Given the description of an element on the screen output the (x, y) to click on. 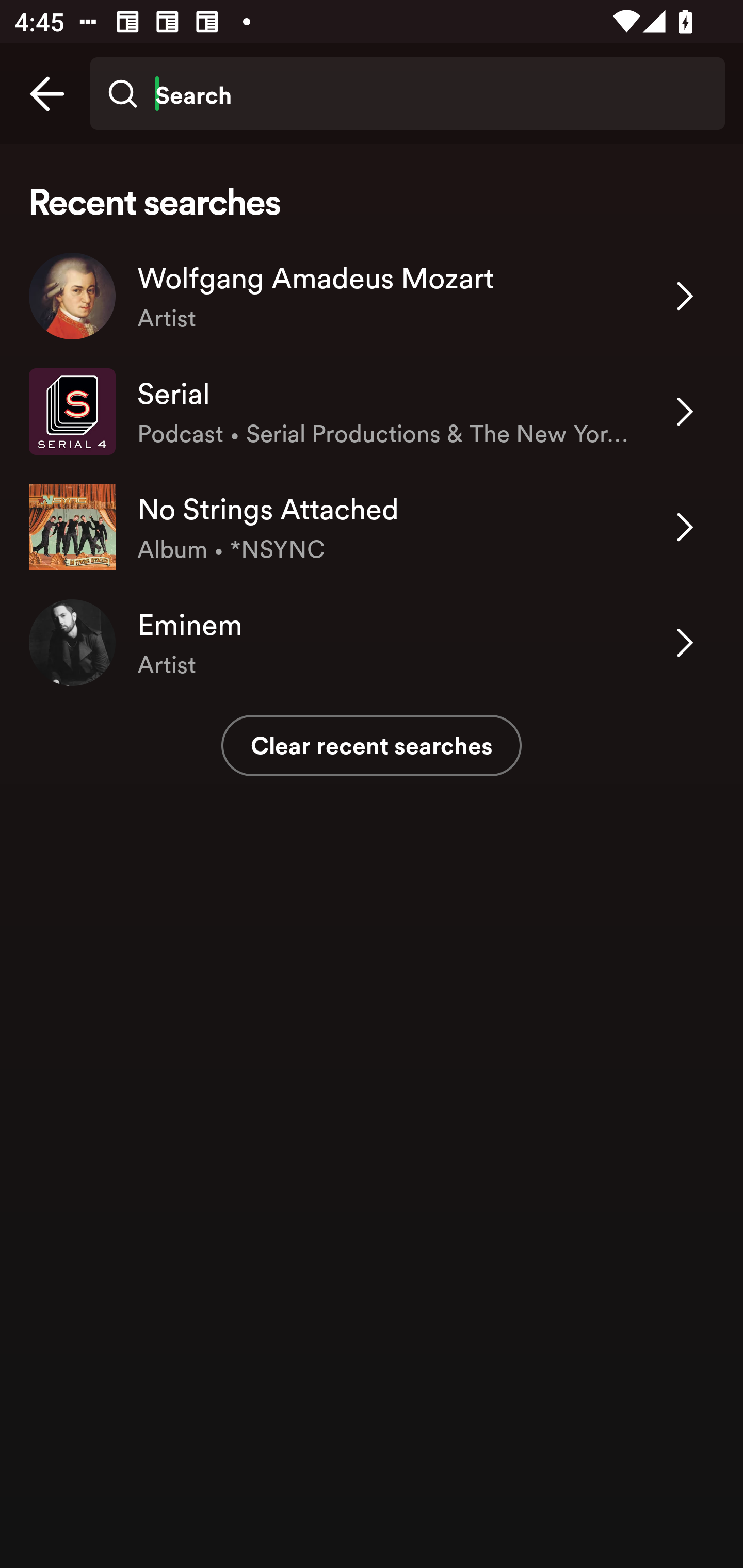
Back (46, 93)
Search (407, 94)
Wolfgang Amadeus Mozart Artist (371, 296)
No Strings Attached Album • *NSYNC (371, 526)
Eminem Artist (371, 642)
Clear recent searches (371, 745)
